Given the description of an element on the screen output the (x, y) to click on. 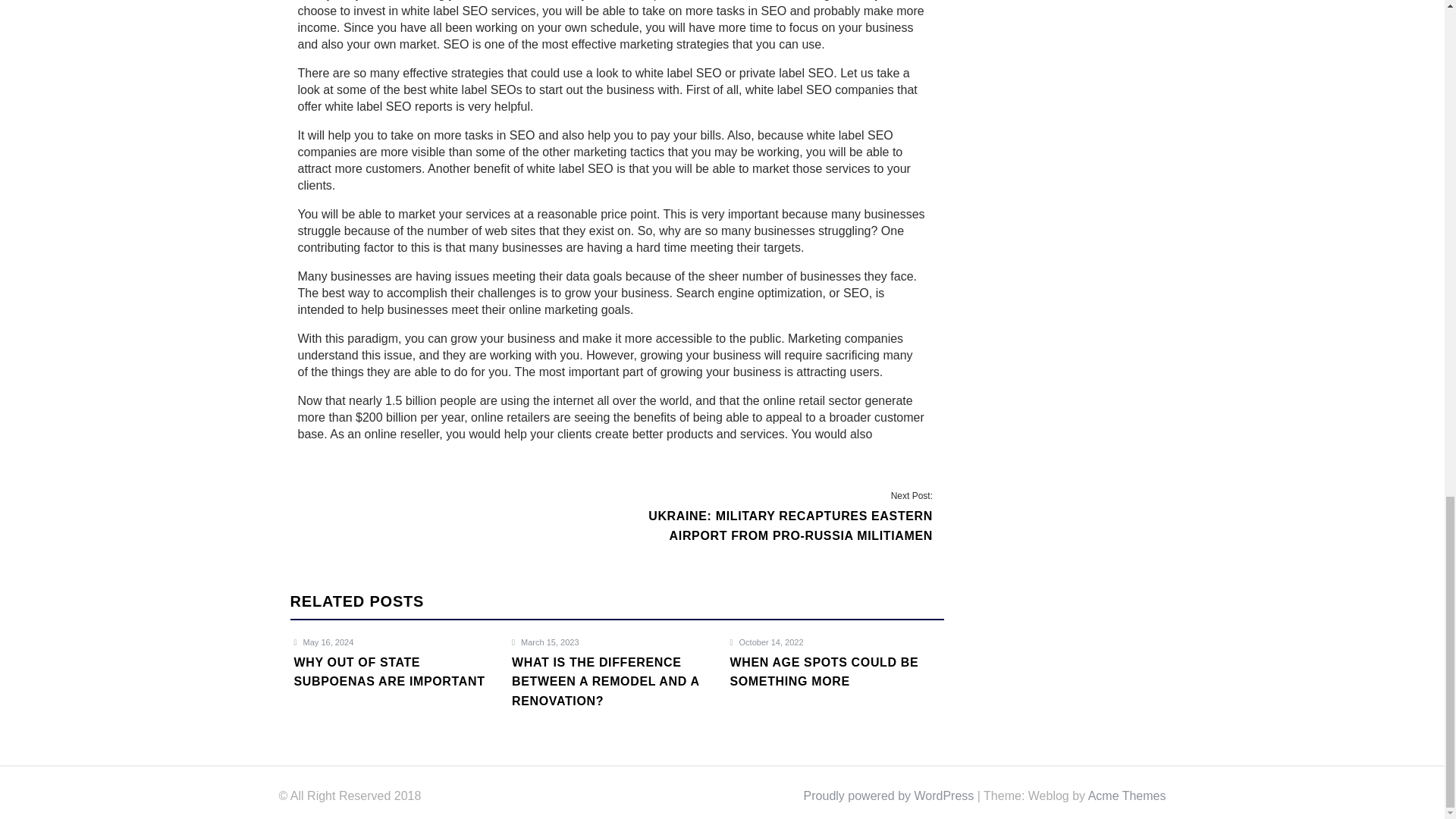
WHEN AGE SPOTS COULD BE SOMETHING MORE (834, 681)
WHY OUT OF STATE SUBPOENAS ARE IMPORTANT (398, 681)
March 15, 2023 (545, 642)
May 16, 2024 (323, 642)
October 14, 2022 (766, 642)
Proudly powered by WordPress (888, 795)
WHAT IS THE DIFFERENCE BETWEEN A REMODEL AND A RENOVATION? (617, 690)
Acme Themes (1126, 795)
